Given the description of an element on the screen output the (x, y) to click on. 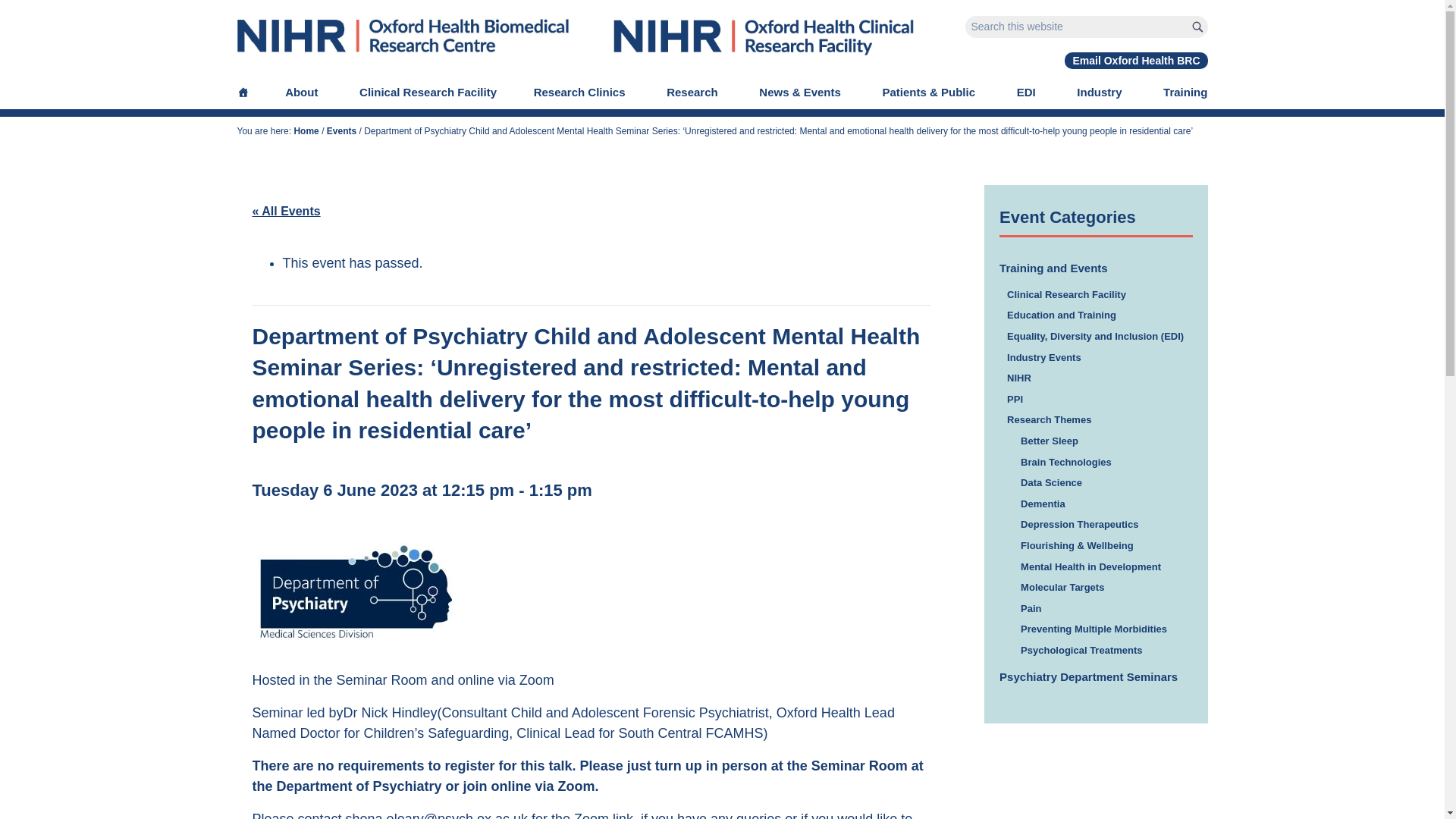
Email Oxford Health BRC (1135, 60)
Research Clinics (582, 91)
Clinical Research Facility (763, 52)
home (402, 52)
About (303, 91)
Clinical Research Facility (427, 91)
Research (694, 91)
